Given the description of an element on the screen output the (x, y) to click on. 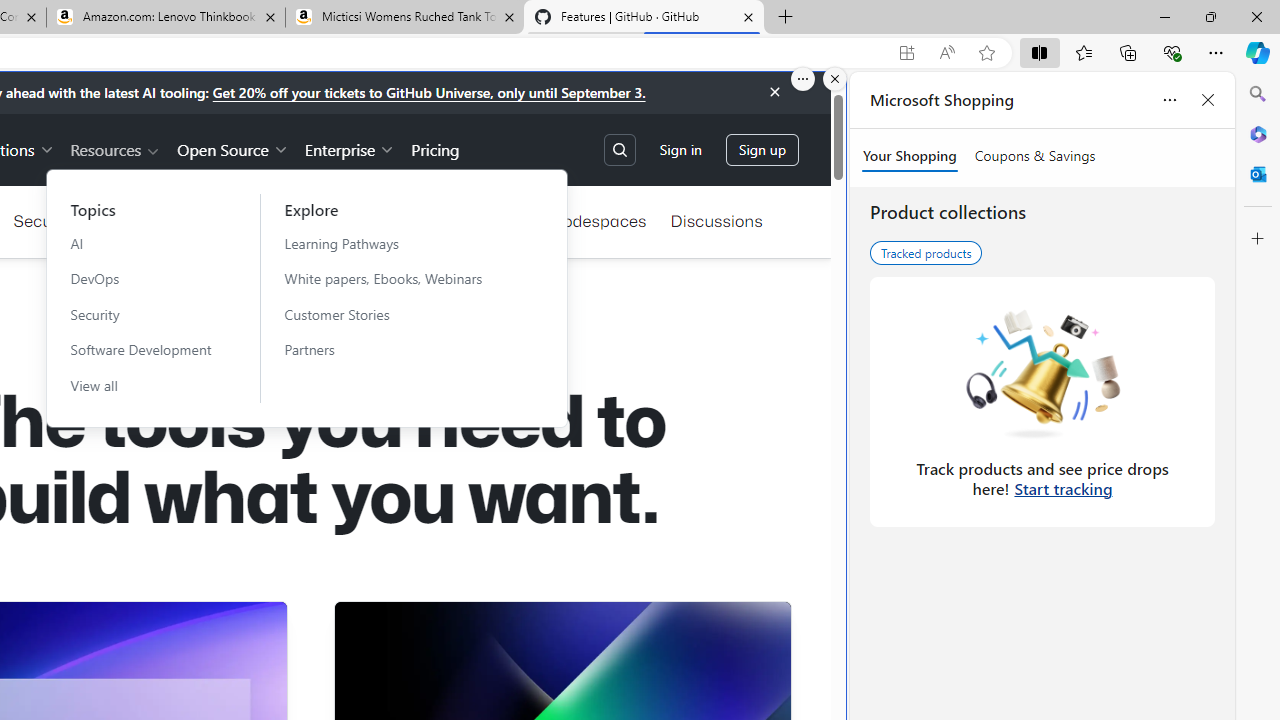
Open Source (232, 148)
Security (141, 313)
Enterprise (349, 148)
Partners (395, 349)
View all (141, 385)
Close split screen. (835, 79)
White papers, Ebooks, Webinars (395, 278)
Discussions (715, 220)
Open Source (232, 148)
